Given the description of an element on the screen output the (x, y) to click on. 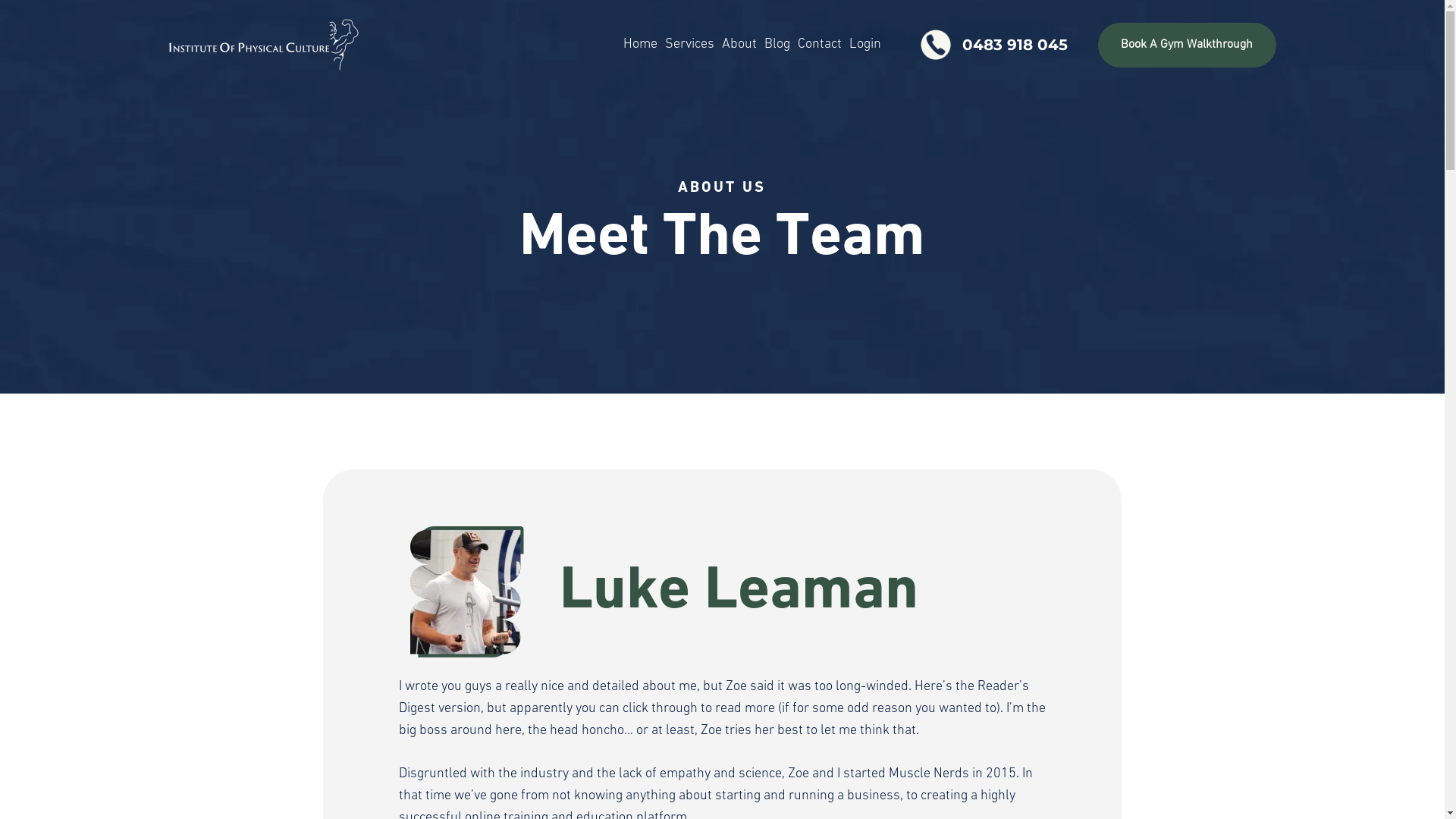
Contact Element type: text (819, 44)
About Element type: text (739, 44)
Book A Gym Walkthrough Element type: text (1186, 44)
0483 918 045 Element type: text (991, 44)
Blog Element type: text (776, 44)
Home Element type: text (640, 44)
Services Element type: text (689, 44)
Login Element type: text (864, 44)
